Given the description of an element on the screen output the (x, y) to click on. 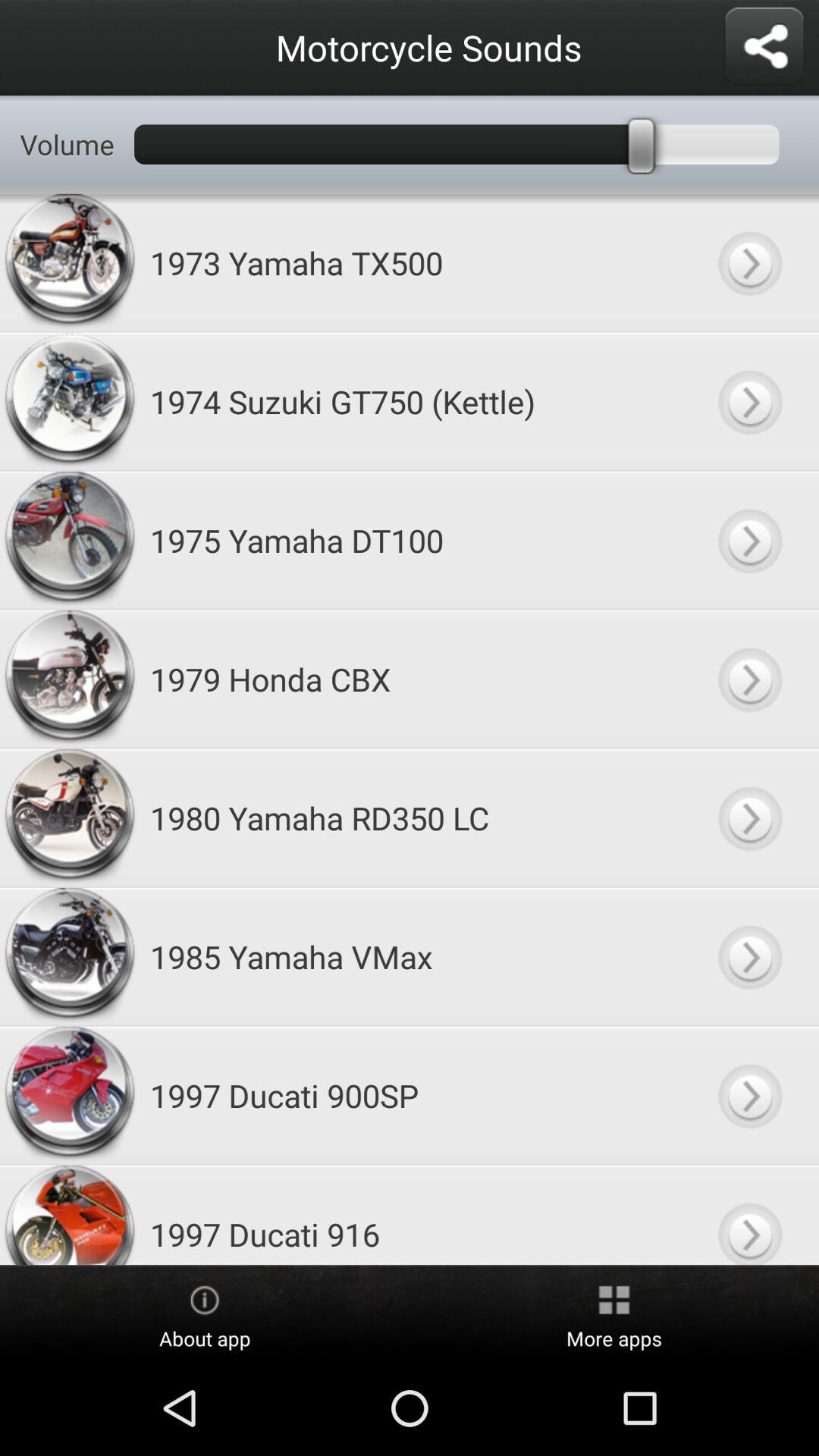
play sound (749, 956)
